Given the description of an element on the screen output the (x, y) to click on. 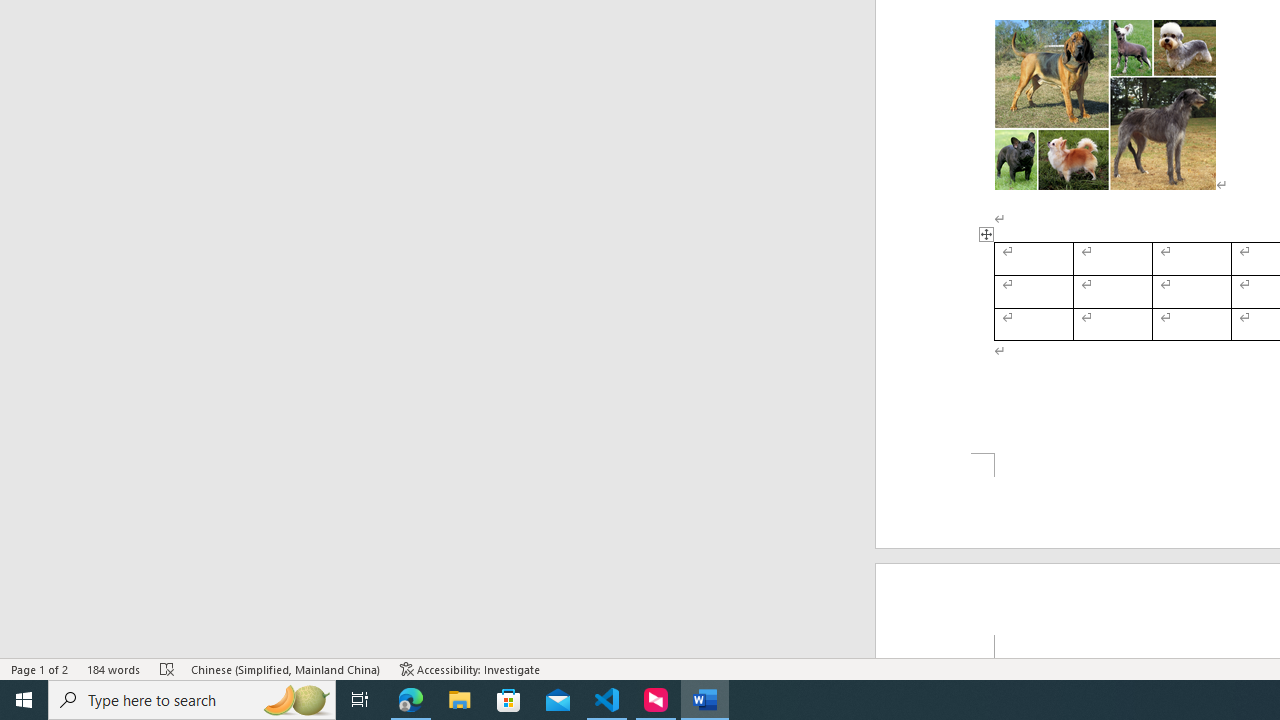
Page Number Page 1 of 2 (39, 668)
Accessibility Checker Accessibility: Investigate (470, 668)
Word Count 184 words (113, 668)
Morphological variation in six dogs (1105, 105)
Spelling and Grammar Check Errors (168, 668)
Language Chinese (Simplified, Mainland China) (286, 668)
